Given the description of an element on the screen output the (x, y) to click on. 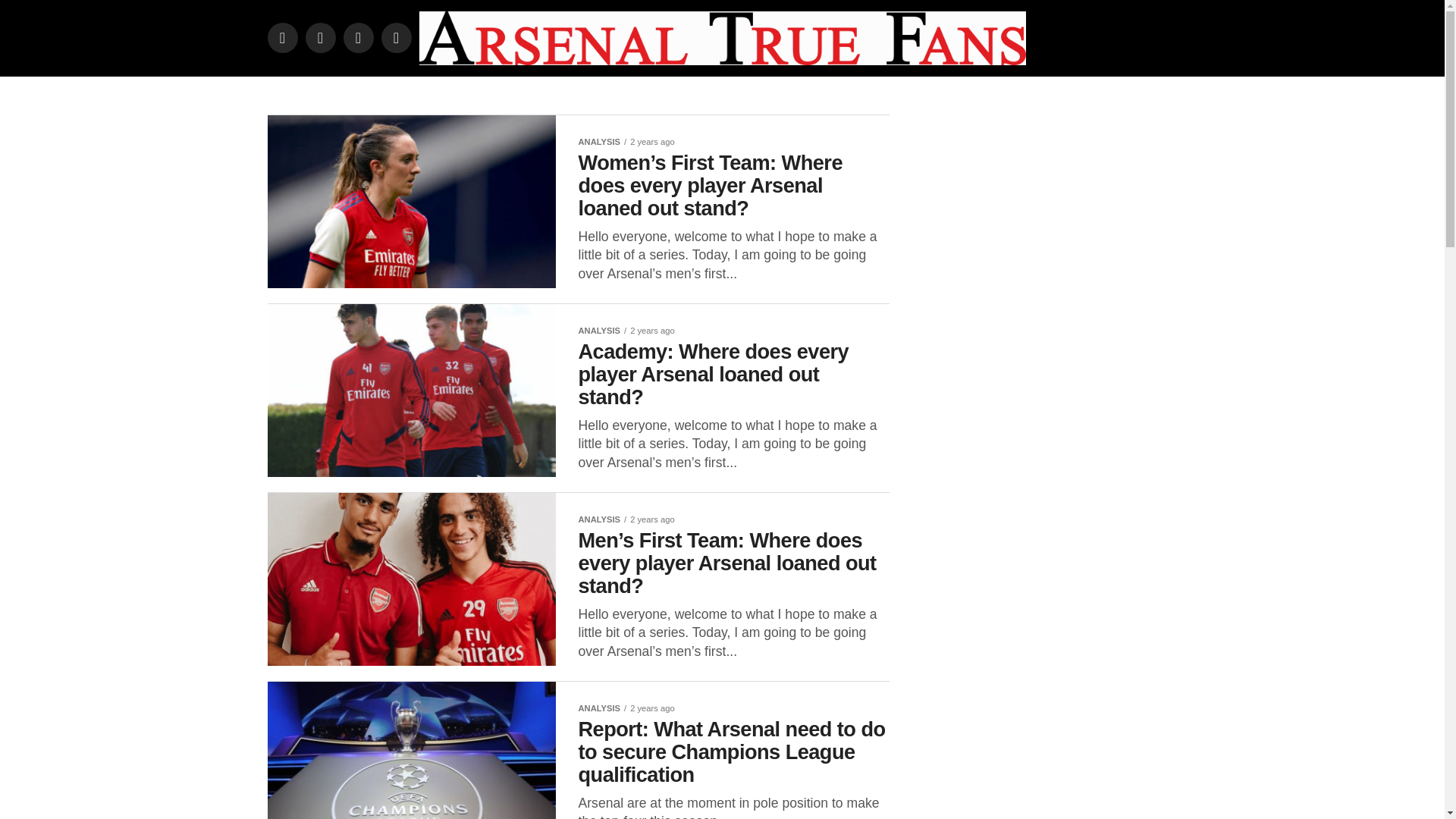
CONTACT US (832, 95)
ABOUT US (604, 95)
EDITORIAL STANDARDS (715, 95)
